Given the description of an element on the screen output the (x, y) to click on. 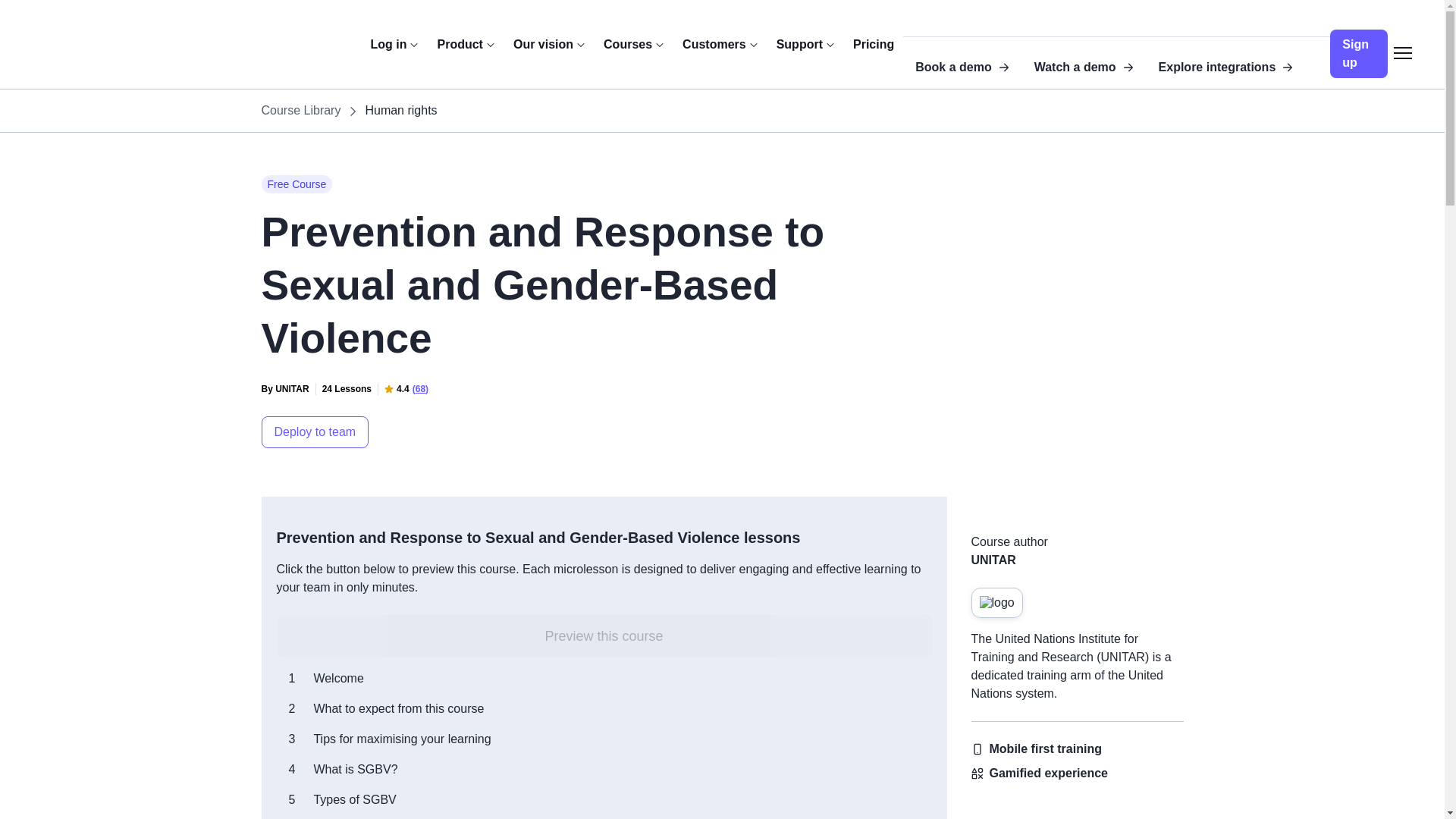
Free Course (296, 183)
EdApp LMS Home (303, 33)
logo (996, 603)
